Given the description of an element on the screen output the (x, y) to click on. 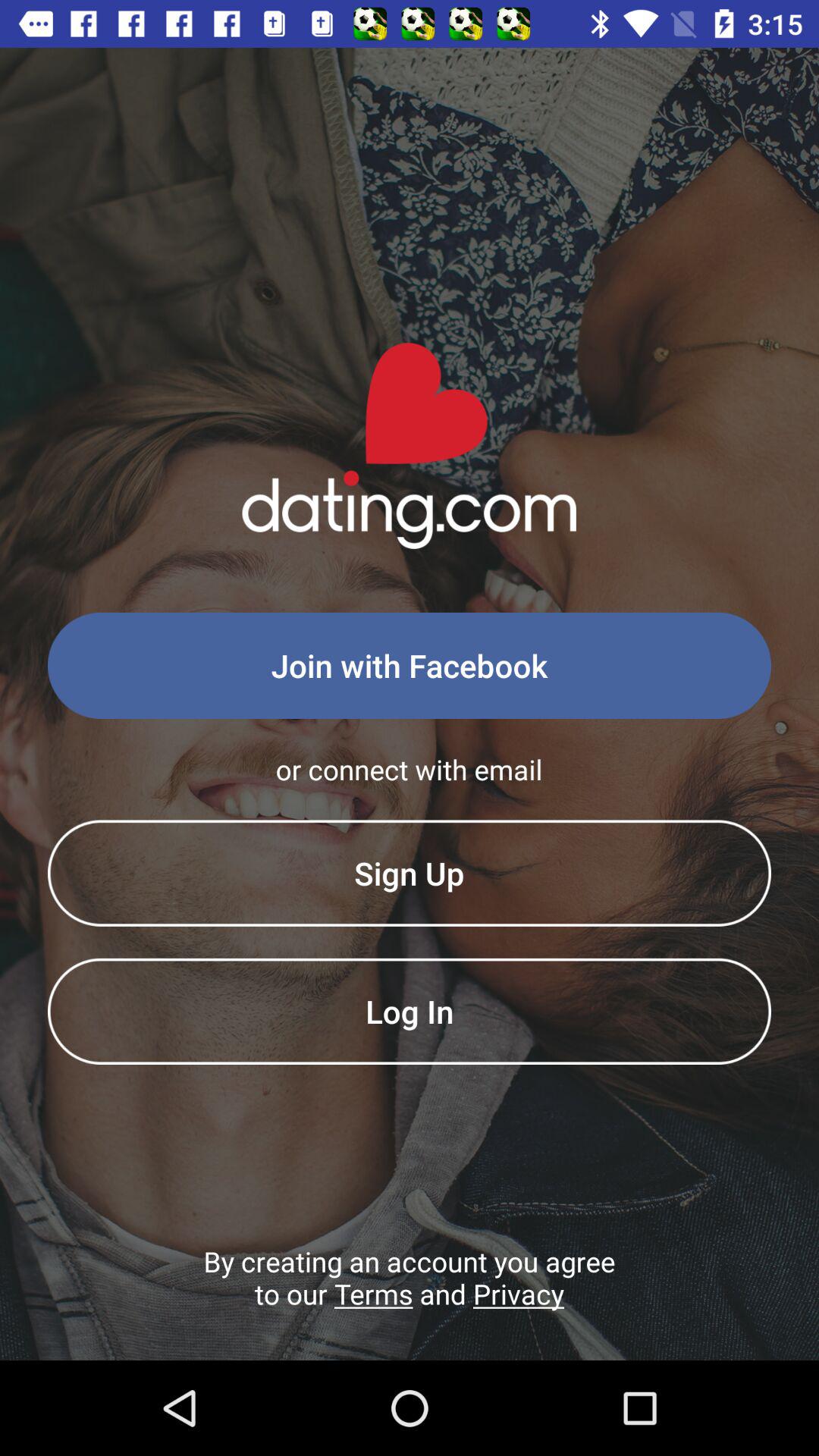
open the icon below sign up icon (409, 1011)
